Given the description of an element on the screen output the (x, y) to click on. 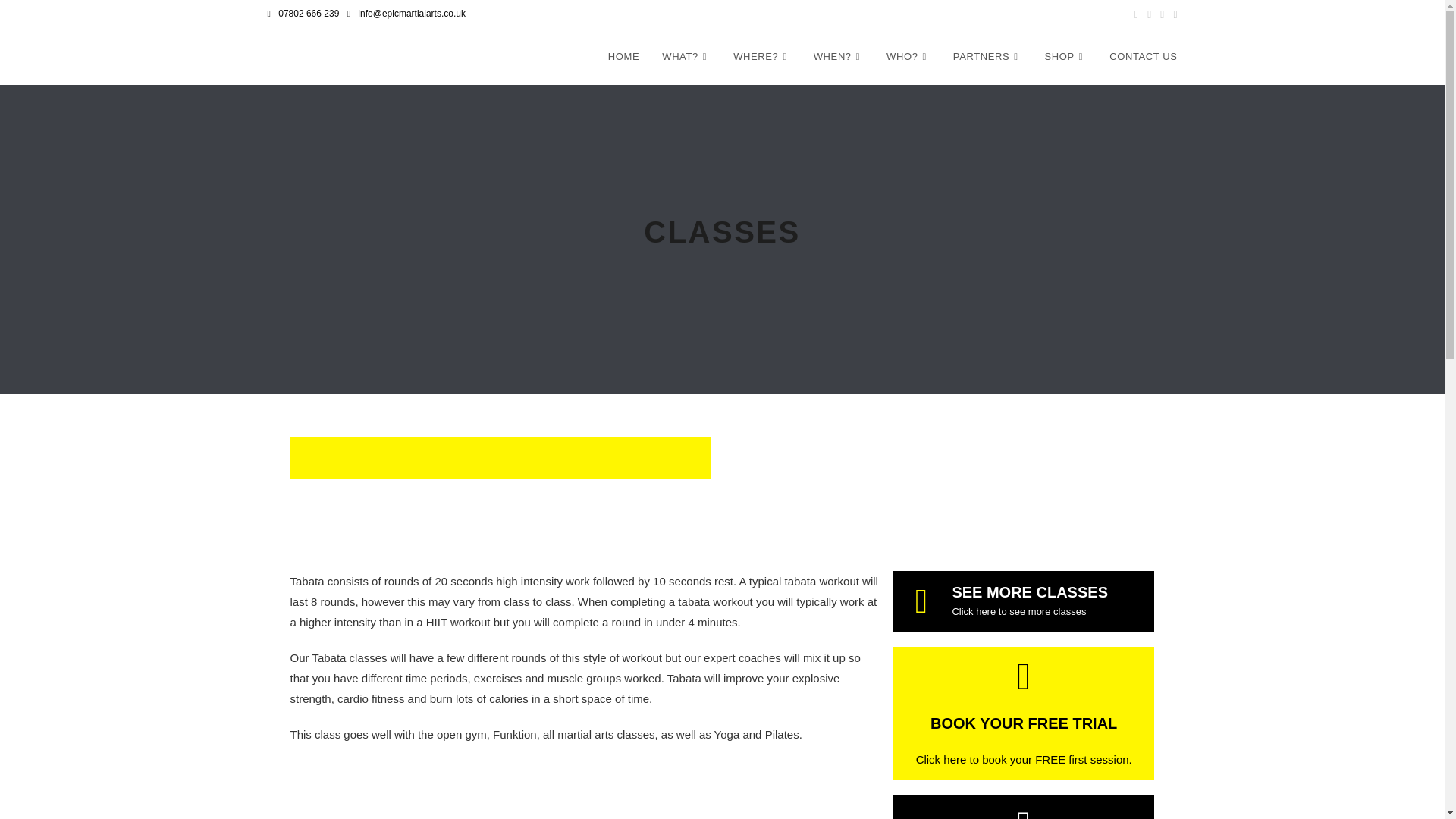
WHAT? (686, 56)
WHO? (908, 56)
PARTNERS (987, 56)
WHEN? (838, 56)
HOME (623, 56)
Epic Martial Arts (331, 55)
WHERE? (762, 56)
